Given the description of an element on the screen output the (x, y) to click on. 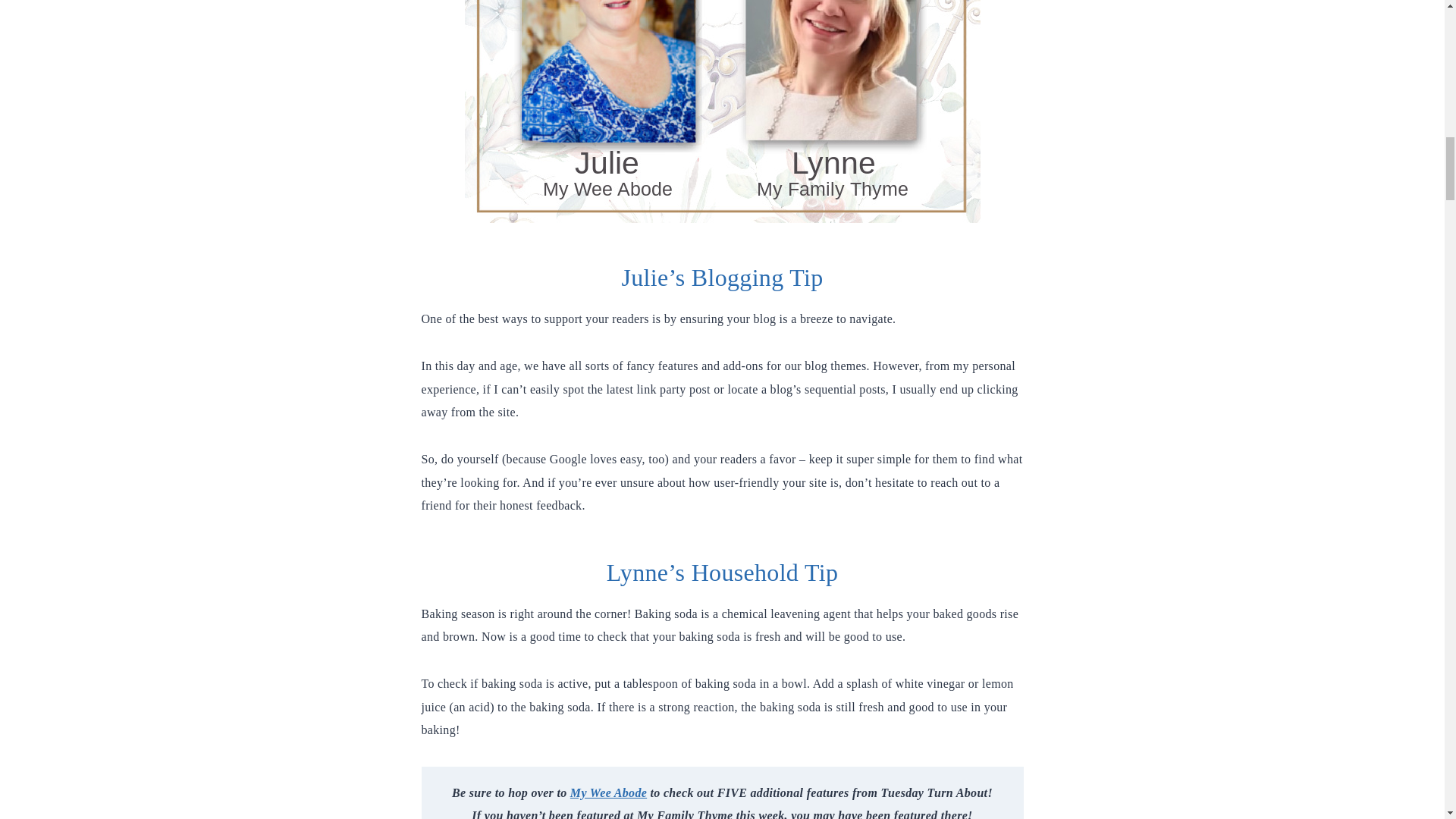
My Wee Abode (608, 792)
